Given the description of an element on the screen output the (x, y) to click on. 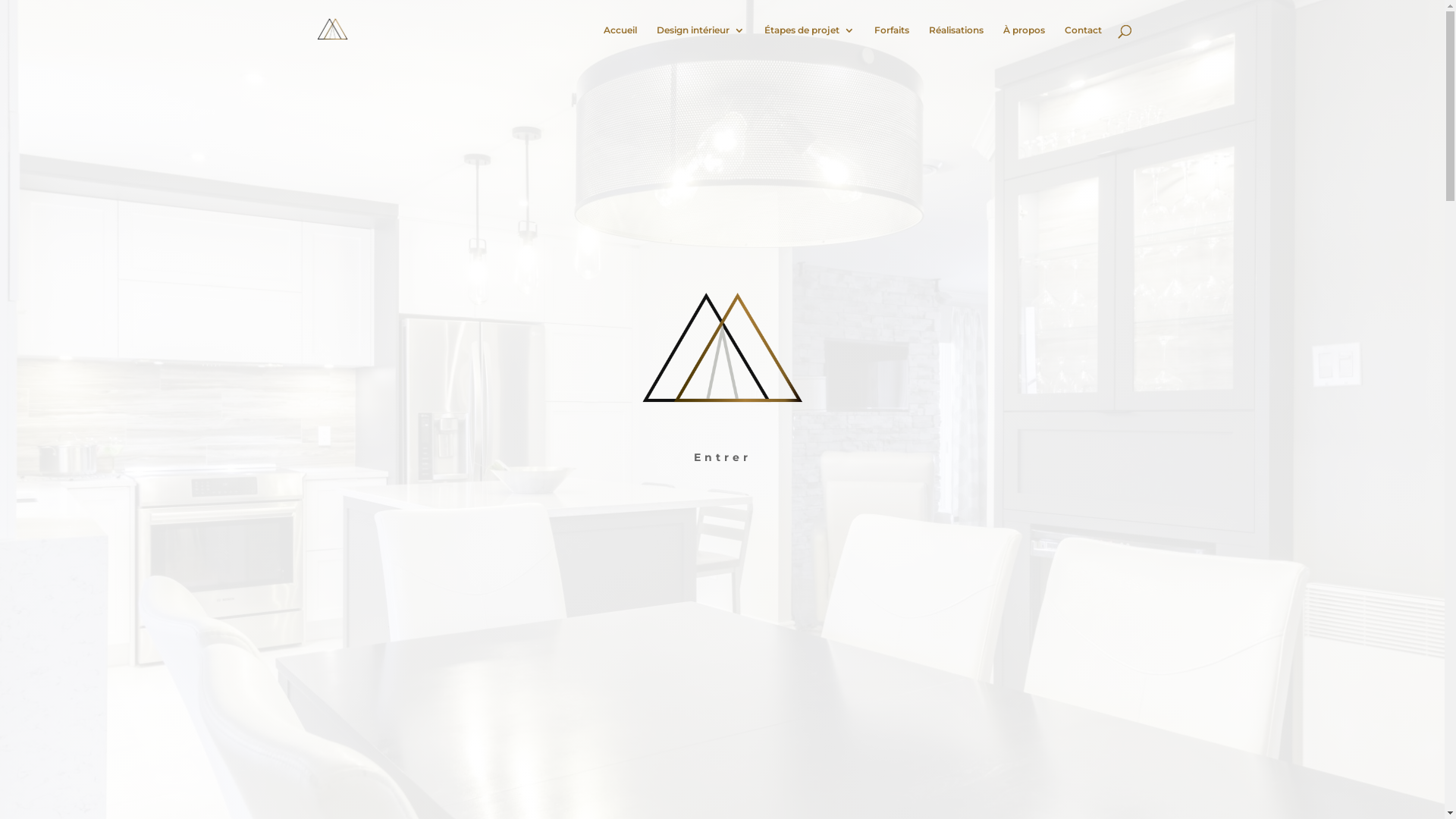
Forfaits Element type: text (890, 42)
logo-amelie-drolet-design-d-interieur Element type: hover (722, 355)
Contact Element type: text (1082, 42)
Accueil Element type: text (620, 42)
